Given the description of an element on the screen output the (x, y) to click on. 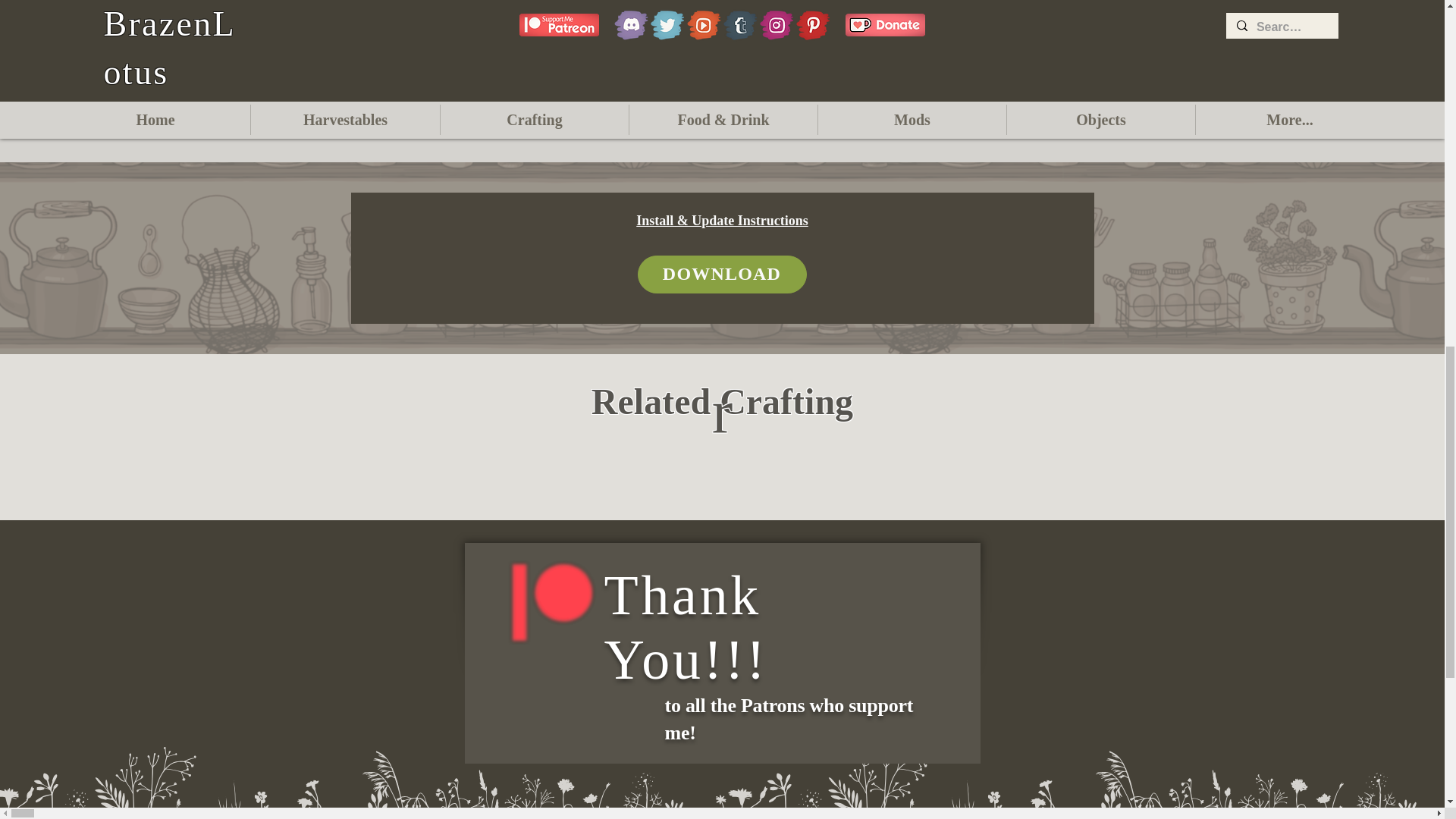
Thank You!!! (685, 627)
DOWNLOAD (721, 274)
to all the Patrons who support me! (787, 718)
